Given the description of an element on the screen output the (x, y) to click on. 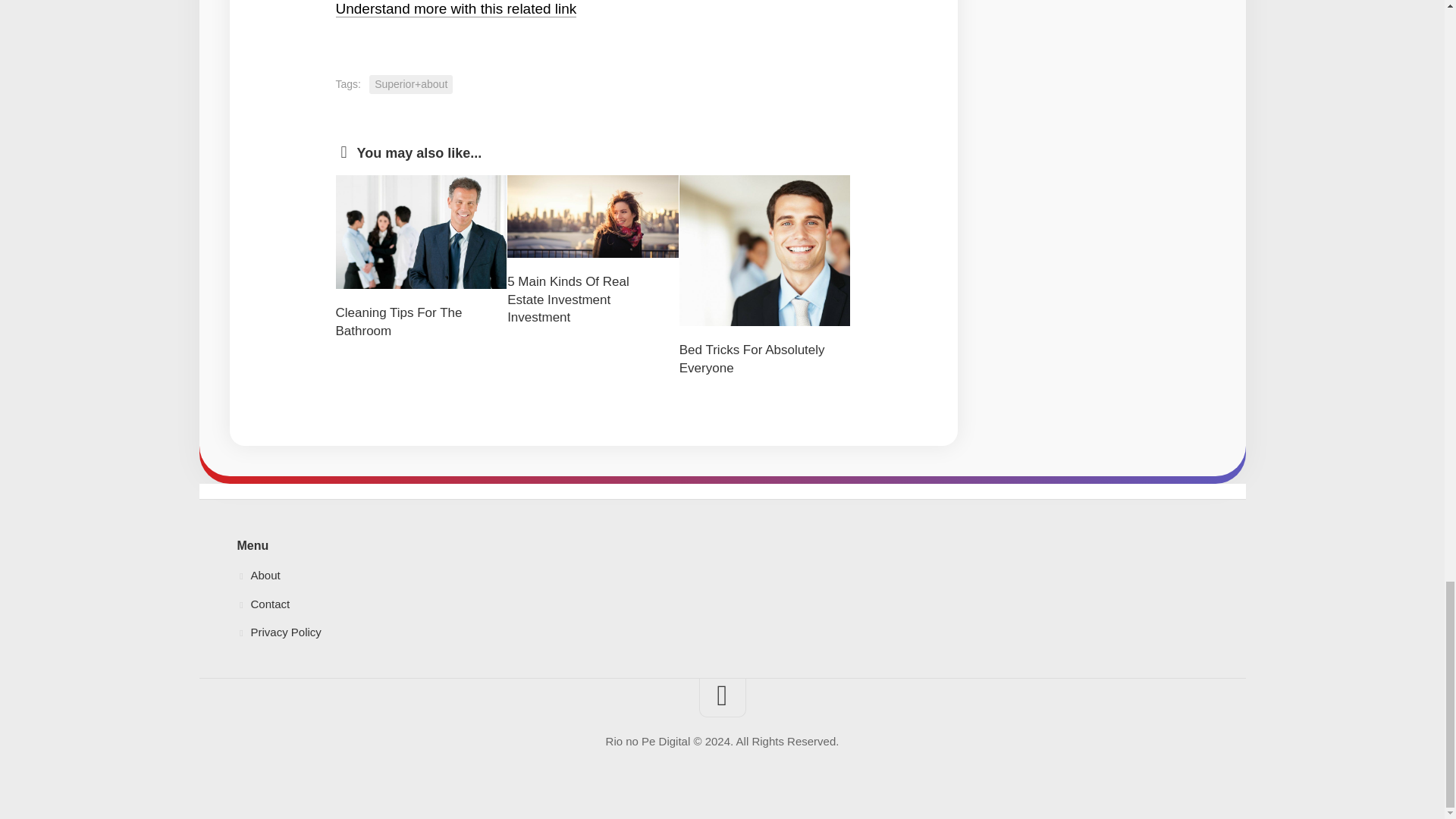
Bed Tricks For Absolutely Everyone (752, 359)
5 Main Kinds Of Real Estate Investment Investment (567, 299)
Cleaning Tips For The Bathroom (397, 321)
Understand more with this related link (455, 8)
